Given the description of an element on the screen output the (x, y) to click on. 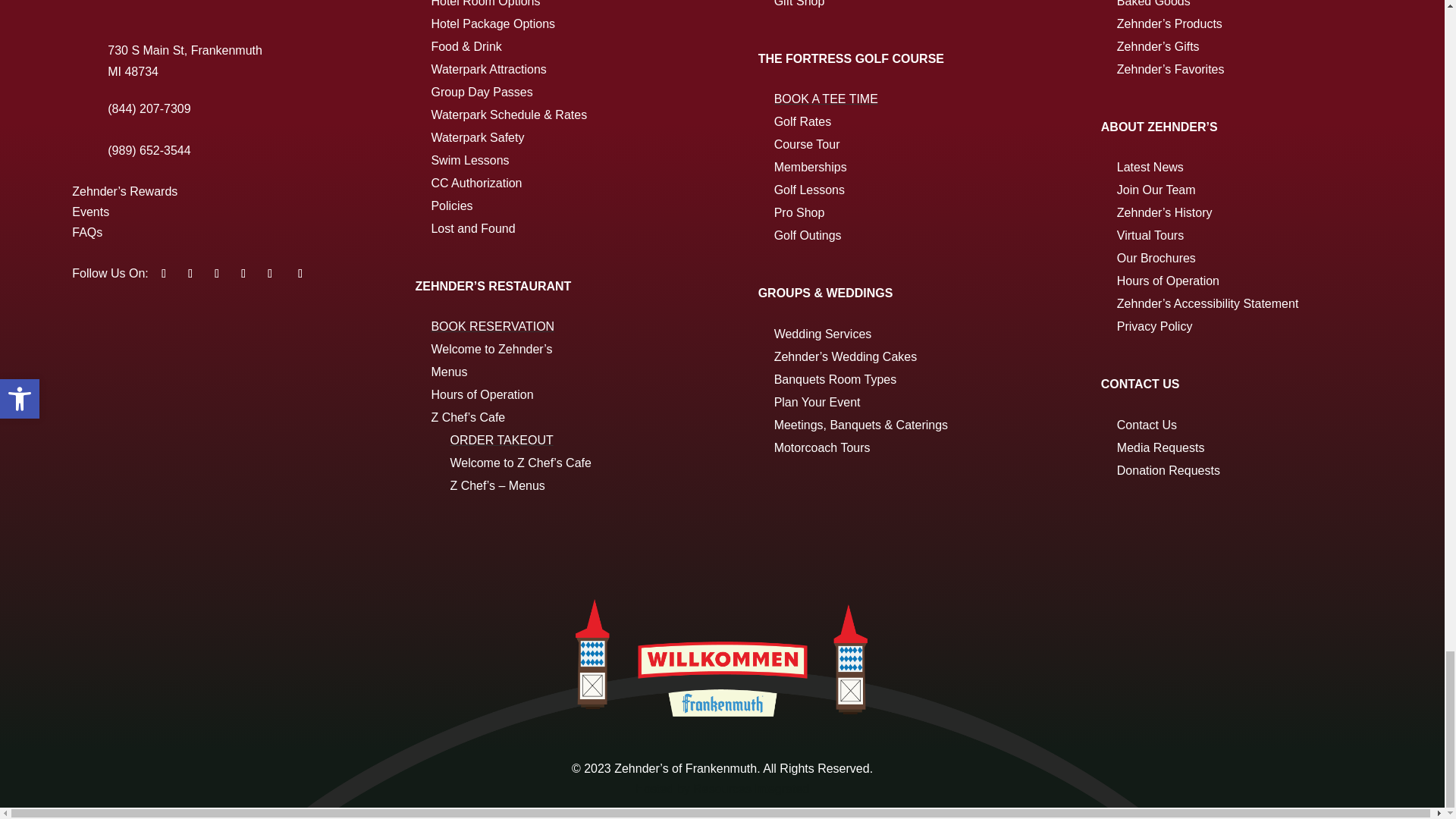
Follow on Instagram (269, 273)
Follow on X (189, 273)
ZENGOLD2 (207, 2)
Follow on Facebook (163, 273)
Follow on Youtube (216, 273)
Follow on Pinterest (243, 273)
Follow on RSS (300, 273)
